Given the description of an element on the screen output the (x, y) to click on. 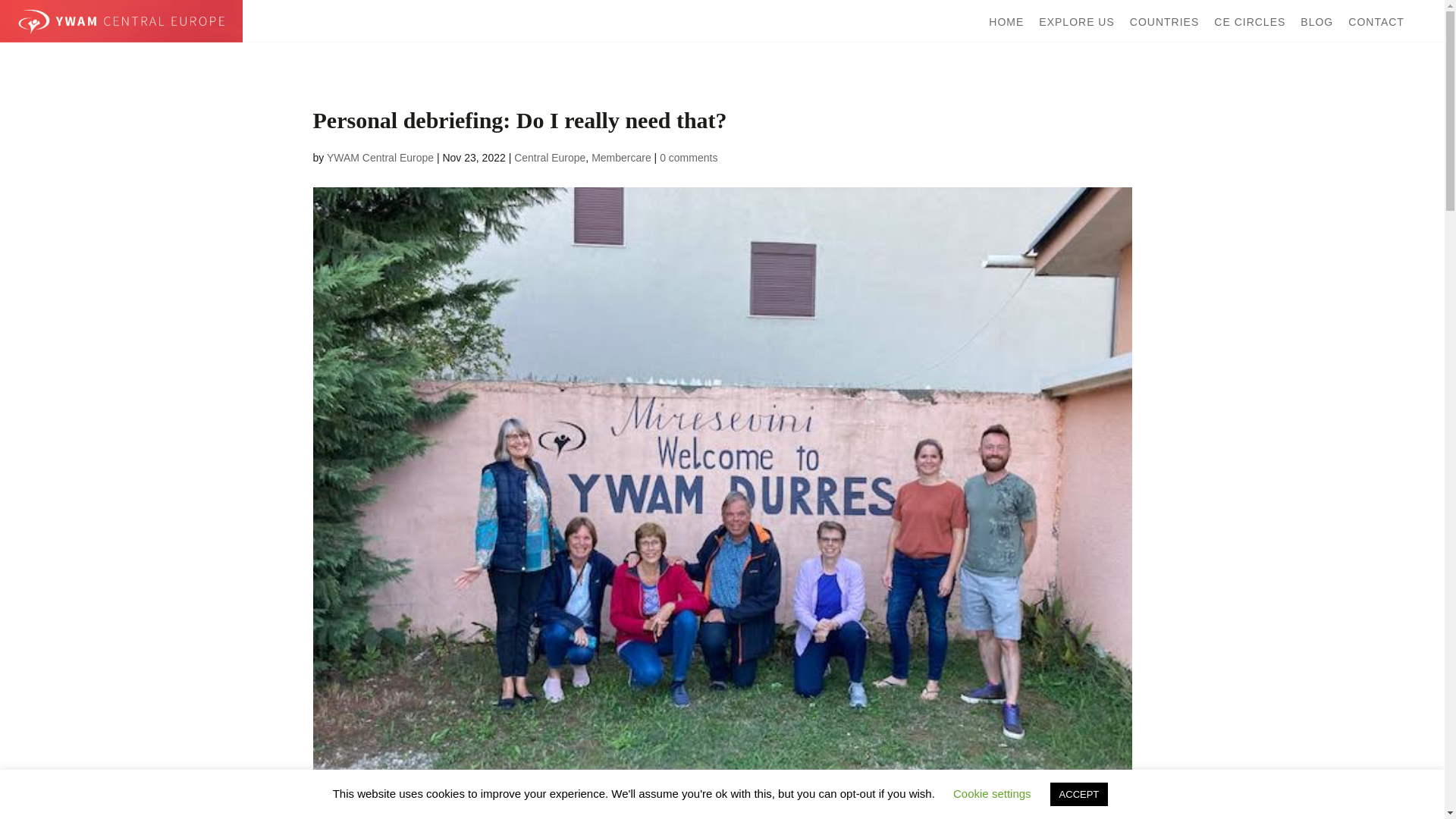
EXPLORE US (1076, 21)
COUNTRIES (1163, 21)
CE CIRCLES (1249, 21)
Posts by YWAM Central Europe (379, 157)
CONTACT (1376, 21)
